Given the description of an element on the screen output the (x, y) to click on. 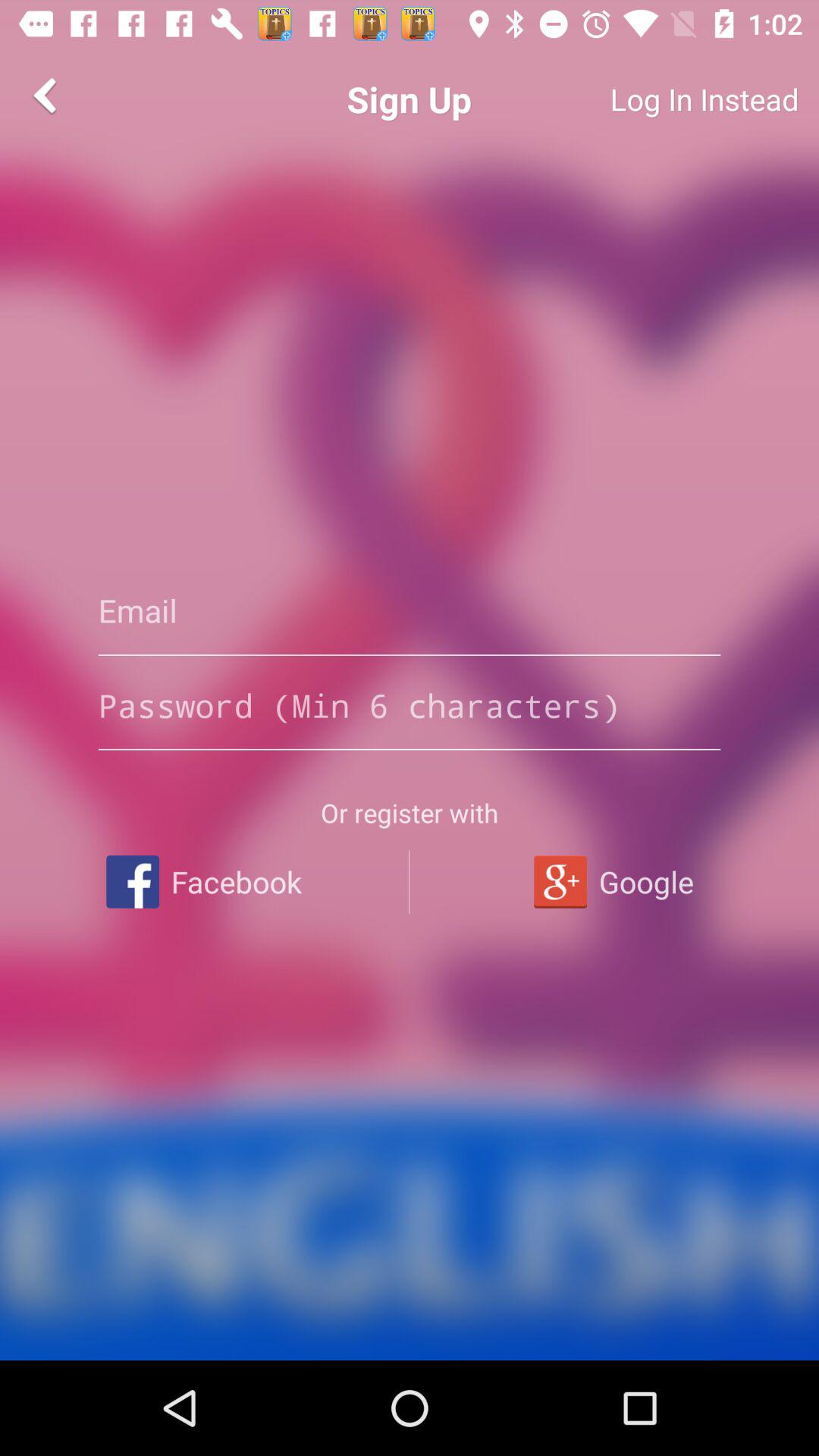
turn on the app below the sign up app (409, 610)
